Given the description of an element on the screen output the (x, y) to click on. 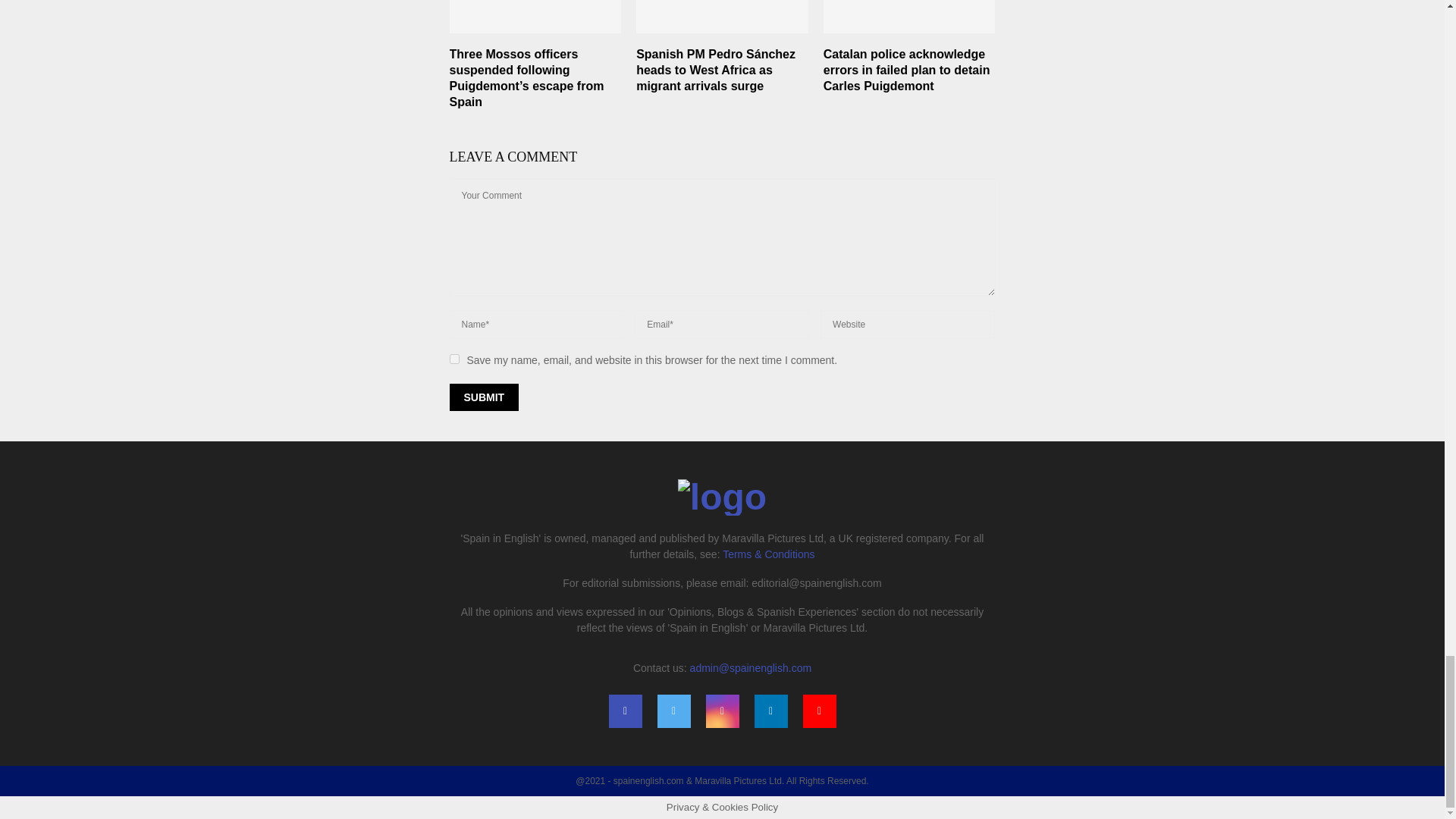
Linkedin (770, 711)
Submit (483, 397)
Facebook (625, 711)
Twitter (673, 711)
yes (453, 358)
Instagram (721, 711)
